Given the description of an element on the screen output the (x, y) to click on. 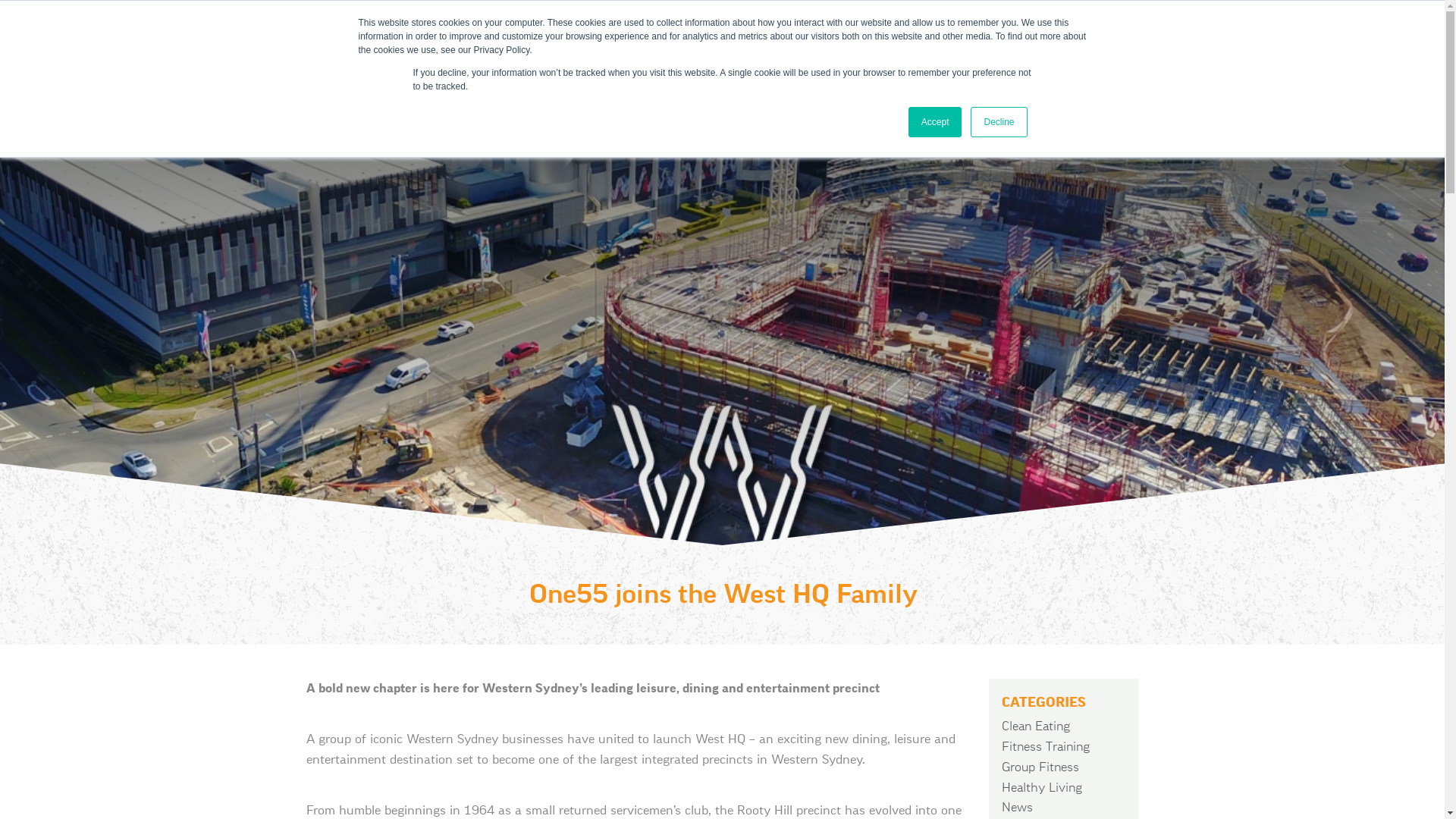
Offers Element type: text (882, 34)
Healthy Living Element type: text (1041, 787)
Classes Element type: text (185, 34)
Group Fitness Element type: text (1040, 767)
Book a Class Element type: text (651, 34)
Decline Element type: text (998, 121)
Members Element type: text (1110, 34)
Clean Eating Element type: text (1035, 726)
Fitness Training Element type: text (1045, 746)
News Element type: text (1016, 807)
Accept Element type: text (935, 121)
Timetable Element type: text (413, 34)
Contact Element type: text (1337, 34)
